Given the description of an element on the screen output the (x, y) to click on. 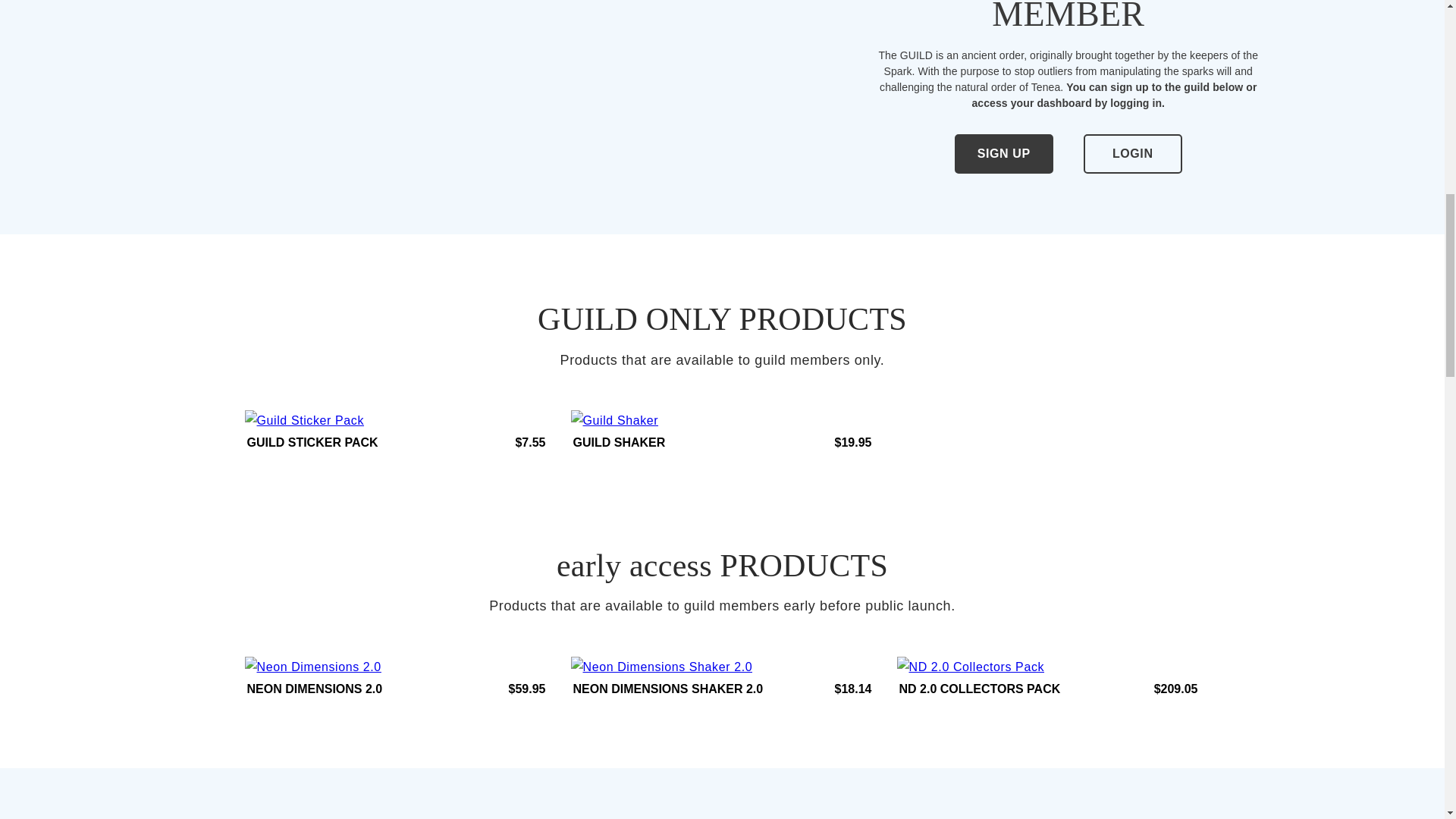
SIGN UP (1003, 154)
LOGIN (1132, 154)
